Given the description of an element on the screen output the (x, y) to click on. 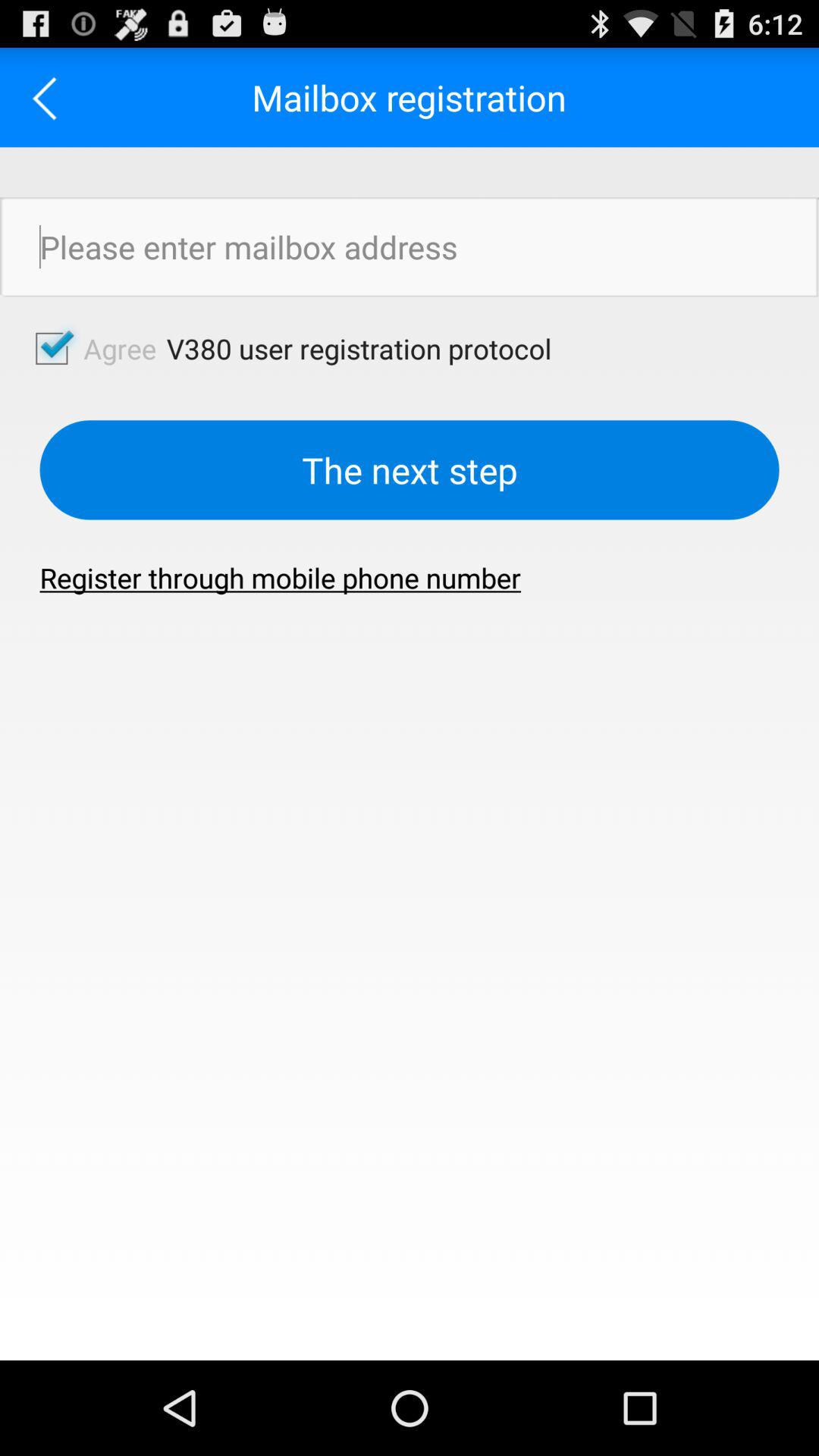
go back (49, 97)
